Given the description of an element on the screen output the (x, y) to click on. 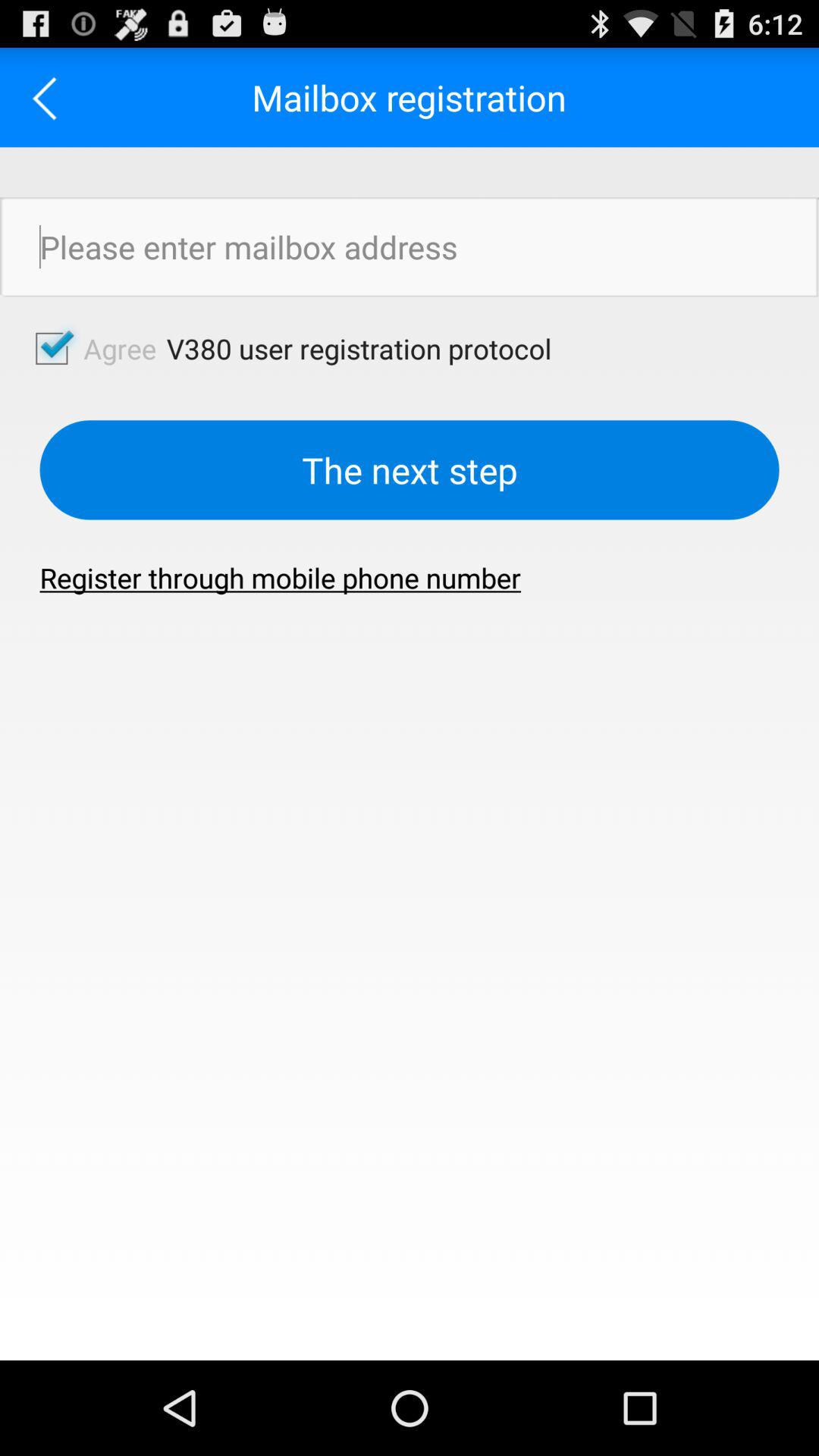
go back (49, 97)
